Given the description of an element on the screen output the (x, y) to click on. 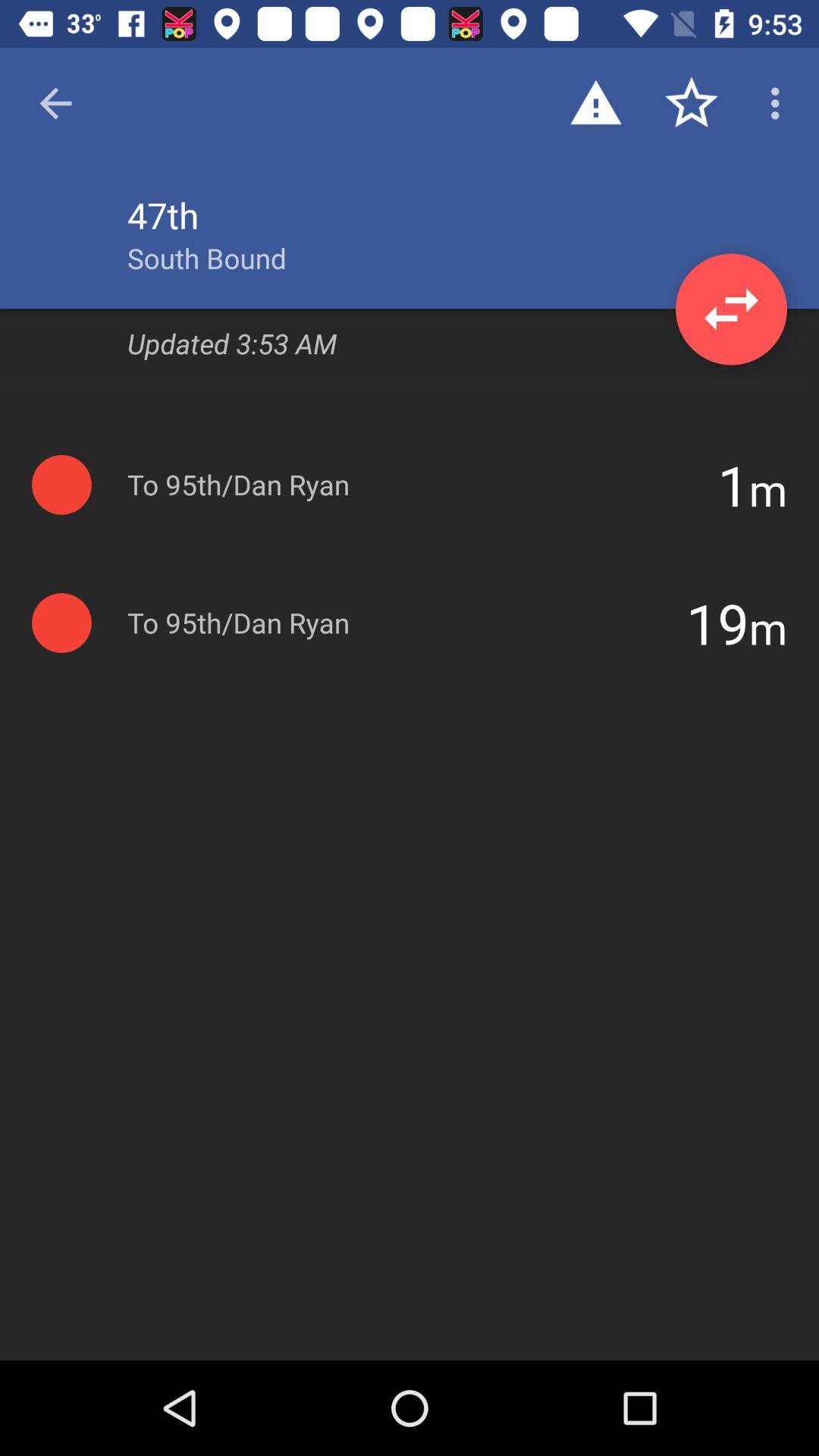
launch the icon to the right of 95th/dan ryan icon (717, 622)
